Given the description of an element on the screen output the (x, y) to click on. 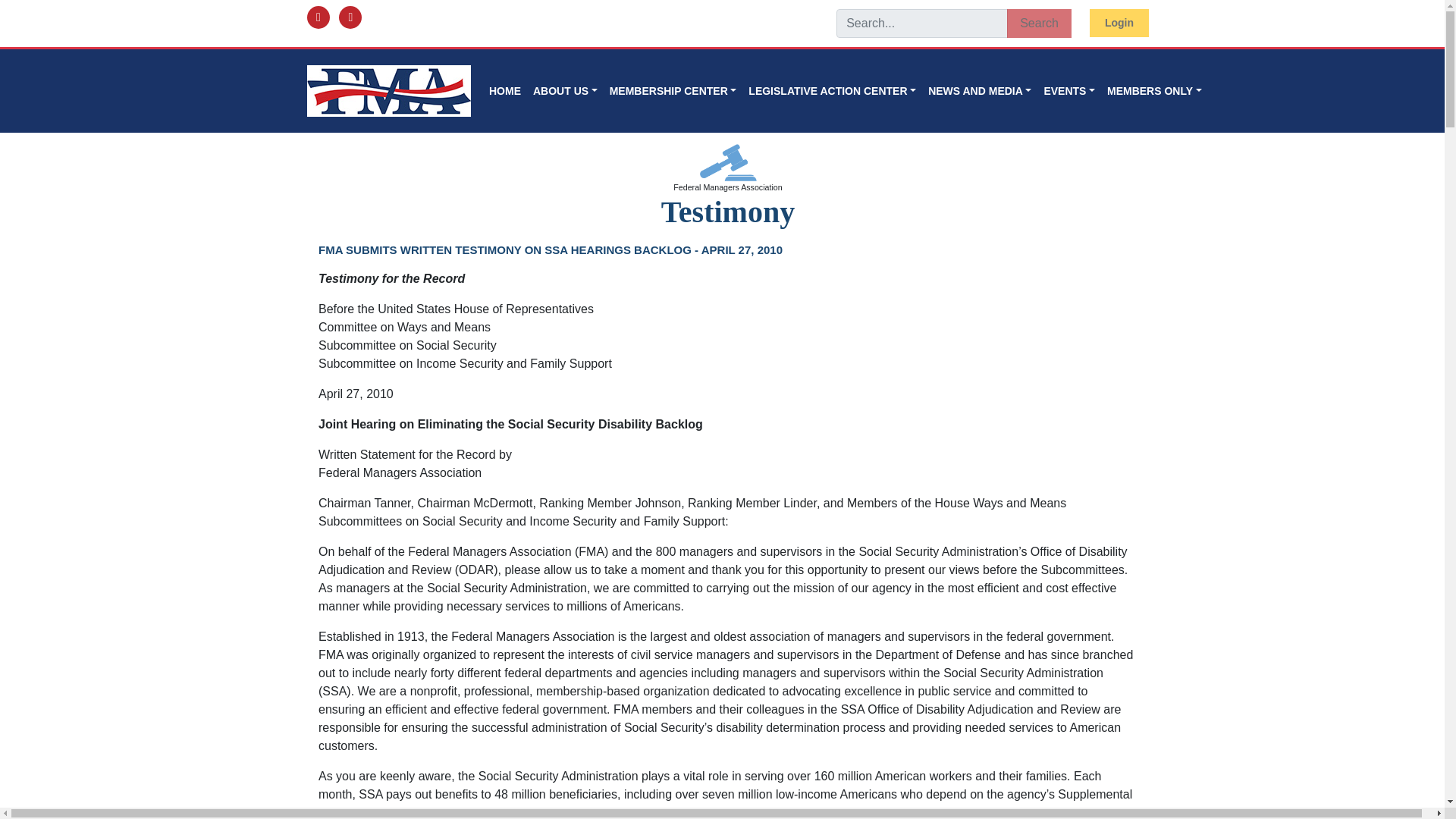
MEMBERSHIP CENTER (673, 90)
HOME (505, 90)
Search (1039, 23)
LEGISLATIVE ACTION CENTER (831, 90)
Login (1118, 22)
ABOUT US (565, 90)
